Given the description of an element on the screen output the (x, y) to click on. 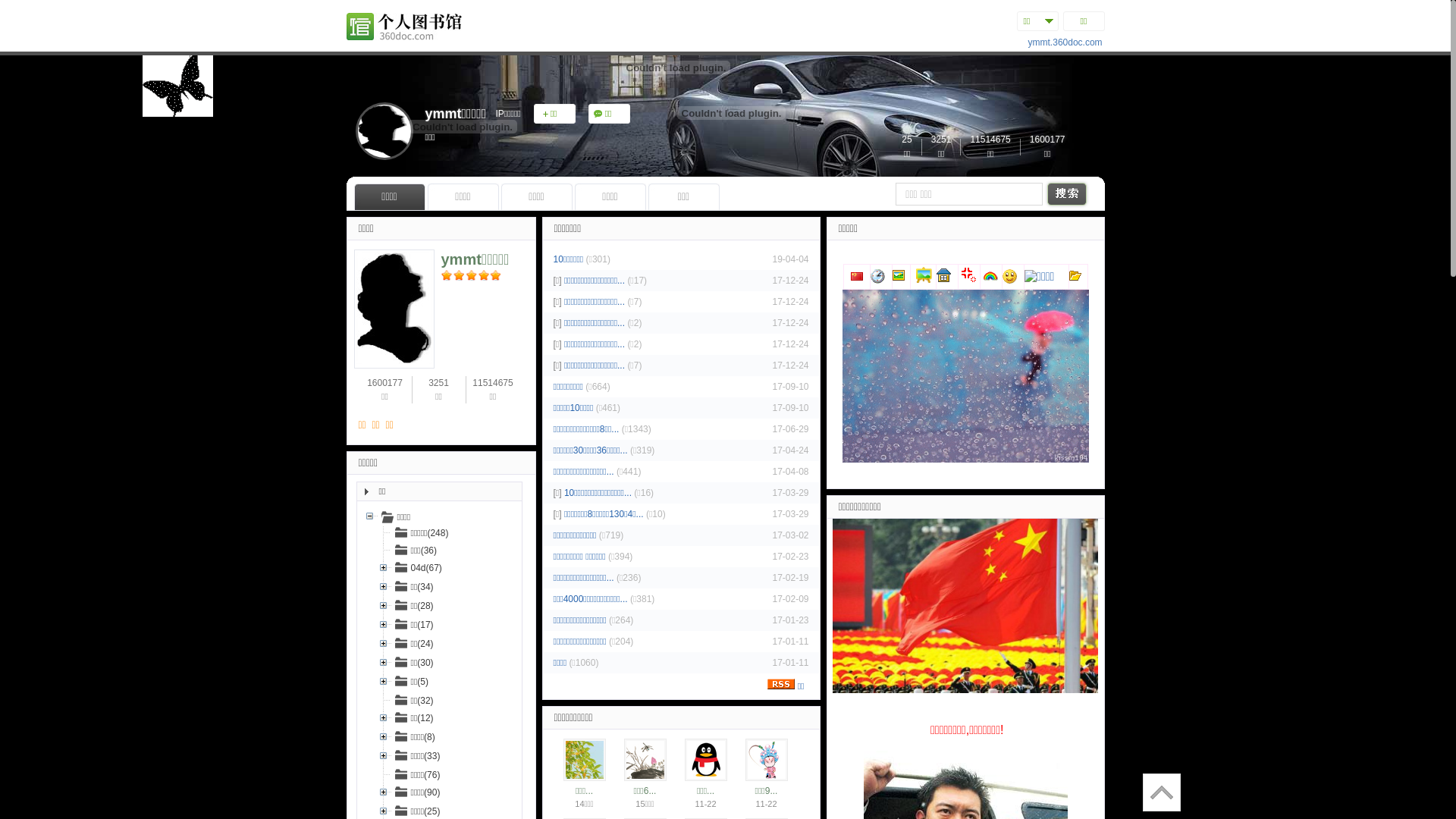
ymmt.360doc.com Element type: text (1065, 42)
04d(67) Element type: text (418, 567)
